Given the description of an element on the screen output the (x, y) to click on. 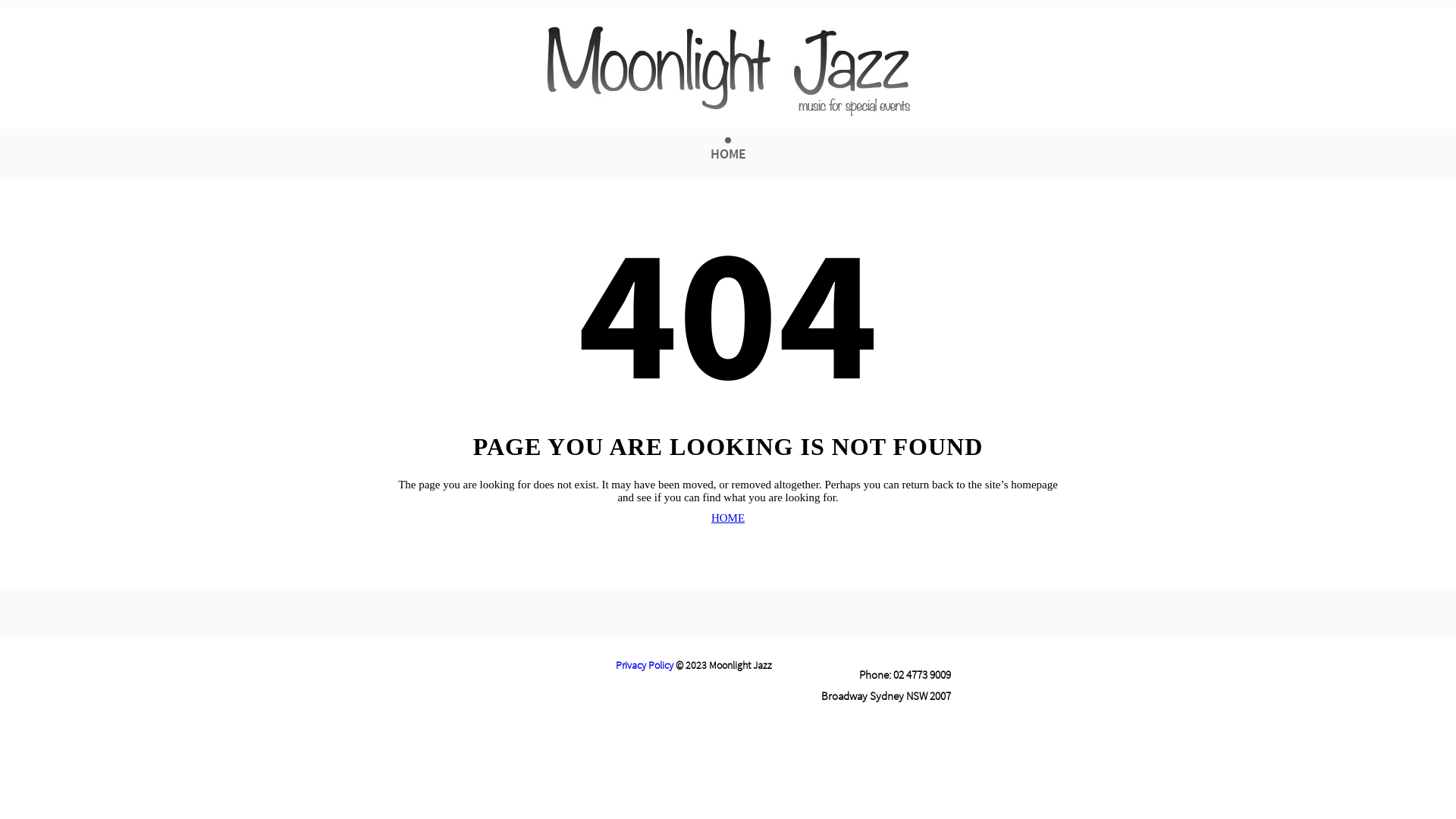
Privacy Policy Element type: text (644, 664)
HOME Element type: text (727, 517)
HOME Element type: text (727, 153)
